Given the description of an element on the screen output the (x, y) to click on. 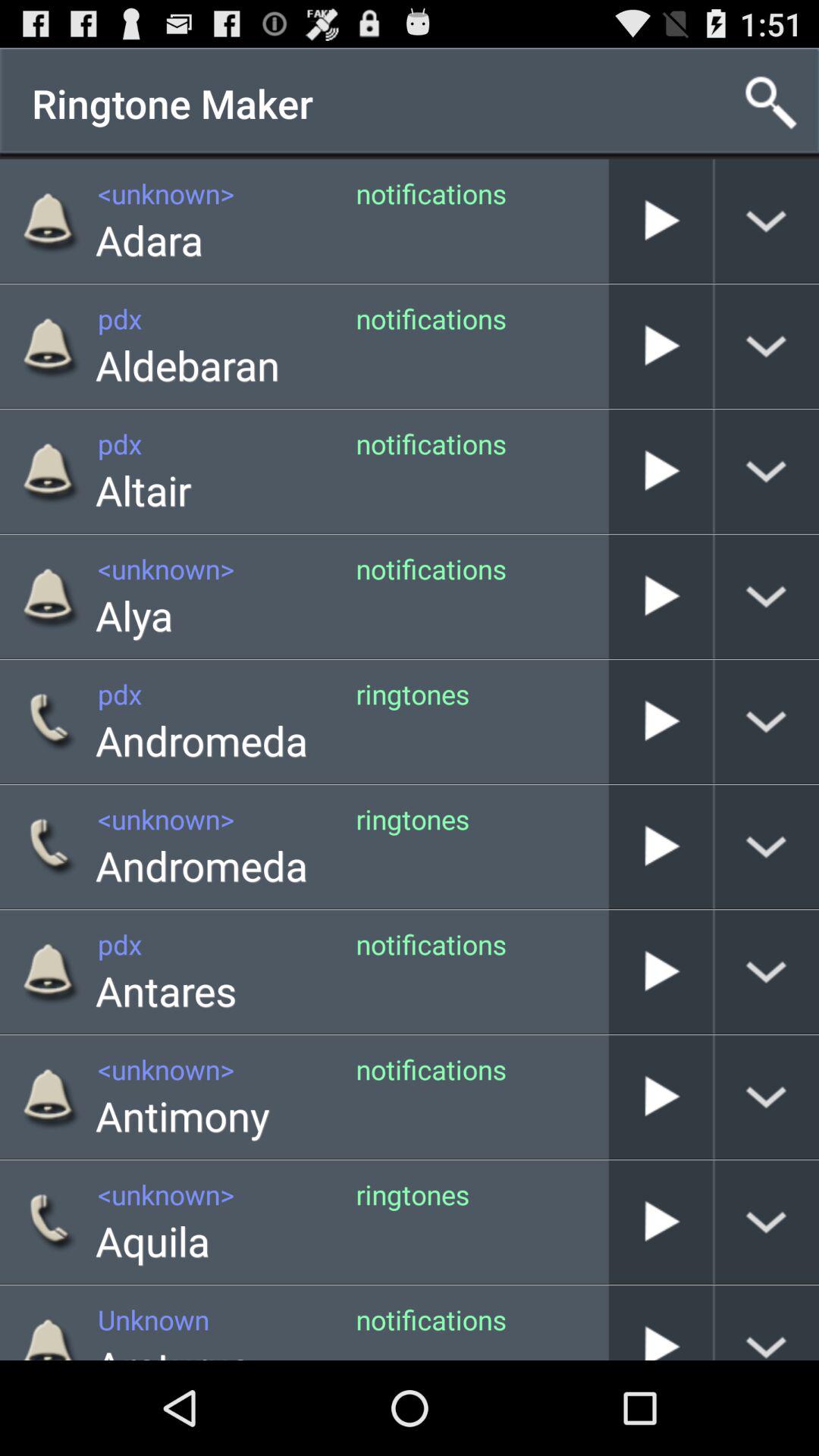
turn on item to the left of notifications icon (149, 239)
